Given the description of an element on the screen output the (x, y) to click on. 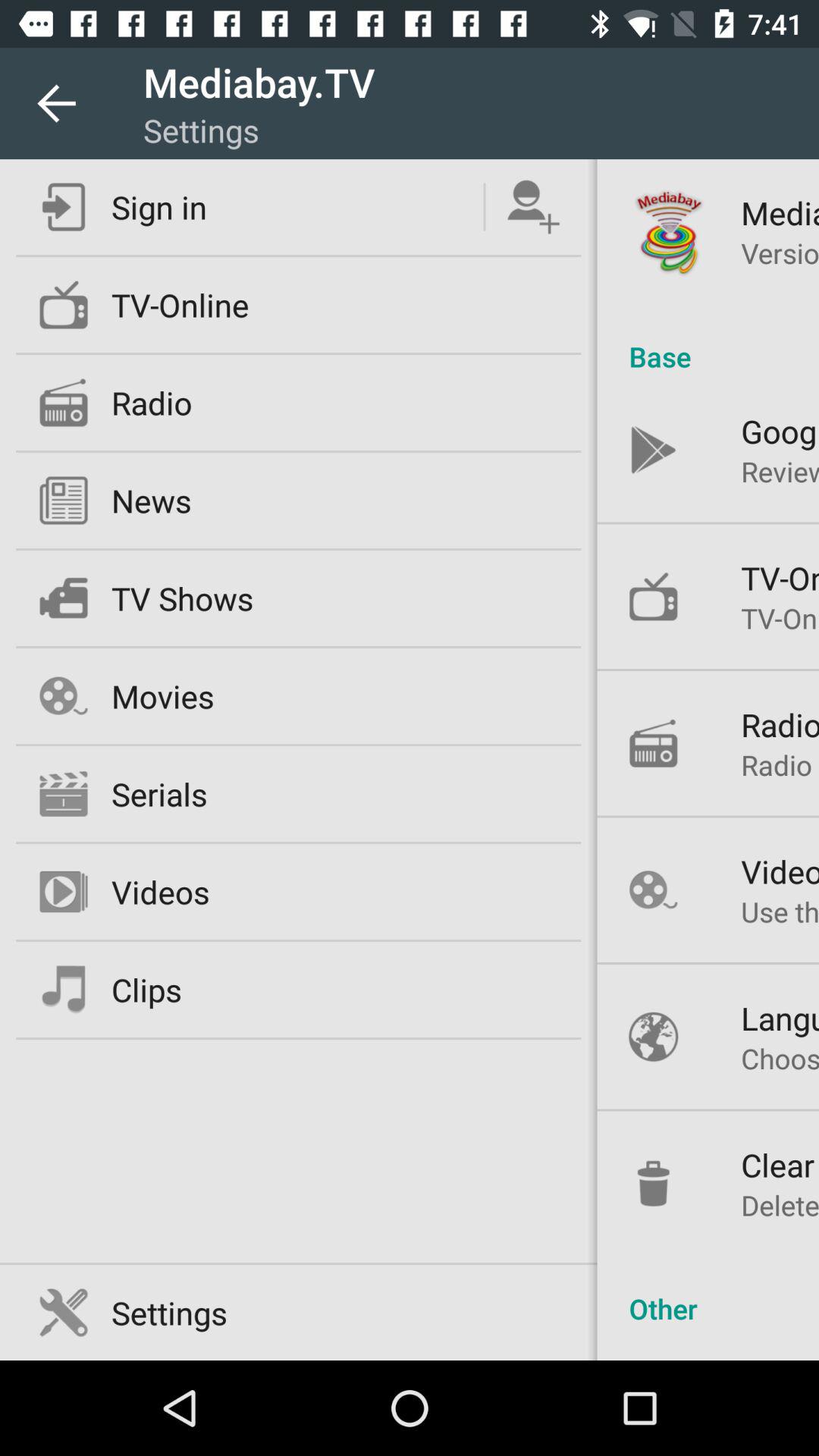
turn on the item above the google play item (708, 340)
